Given the description of an element on the screen output the (x, y) to click on. 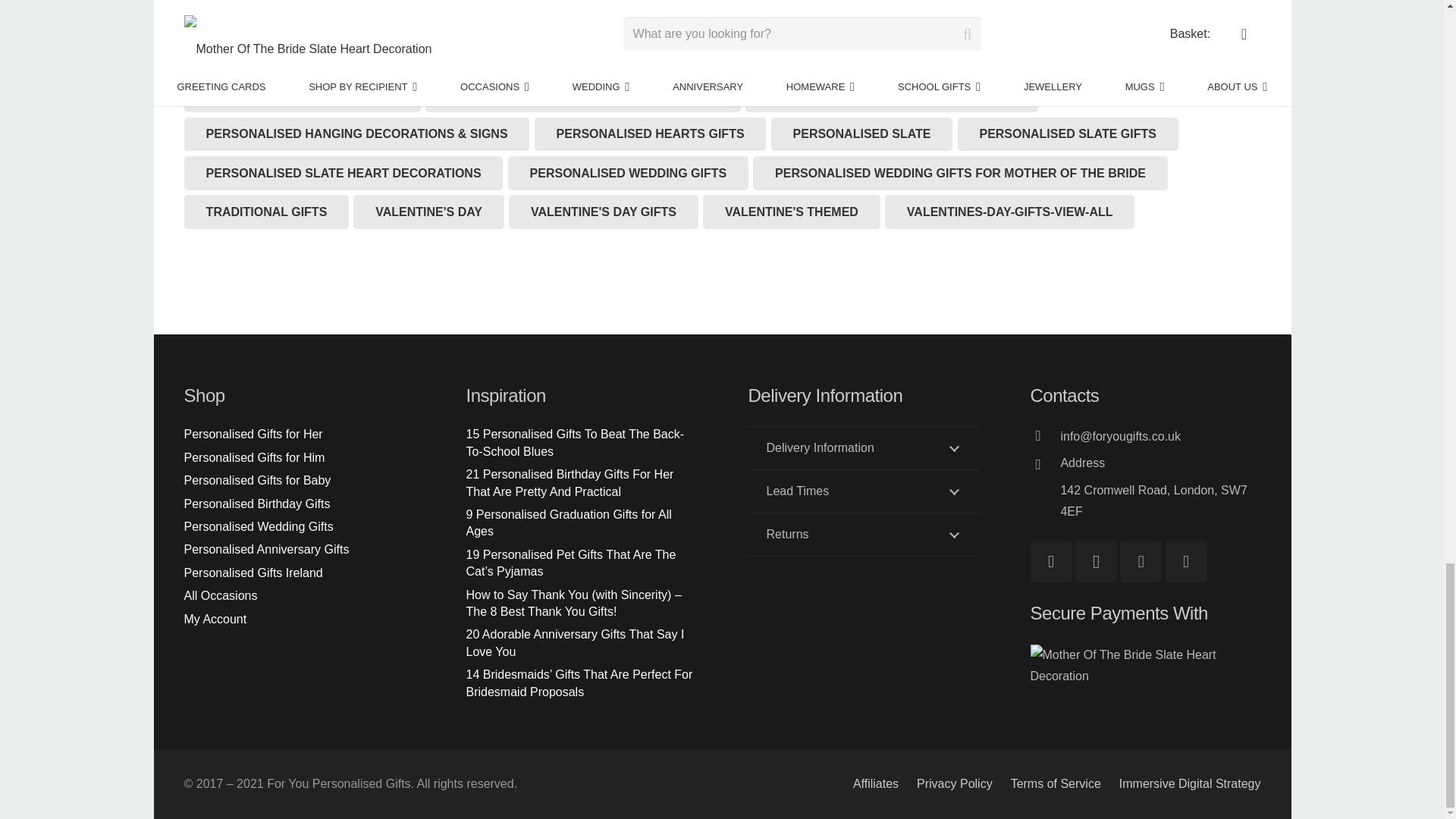
Facebook (1050, 561)
Contact Us (863, 490)
Twitter (1159, 465)
Contact Us (1140, 561)
Instagram (1044, 465)
